Given the description of an element on the screen output the (x, y) to click on. 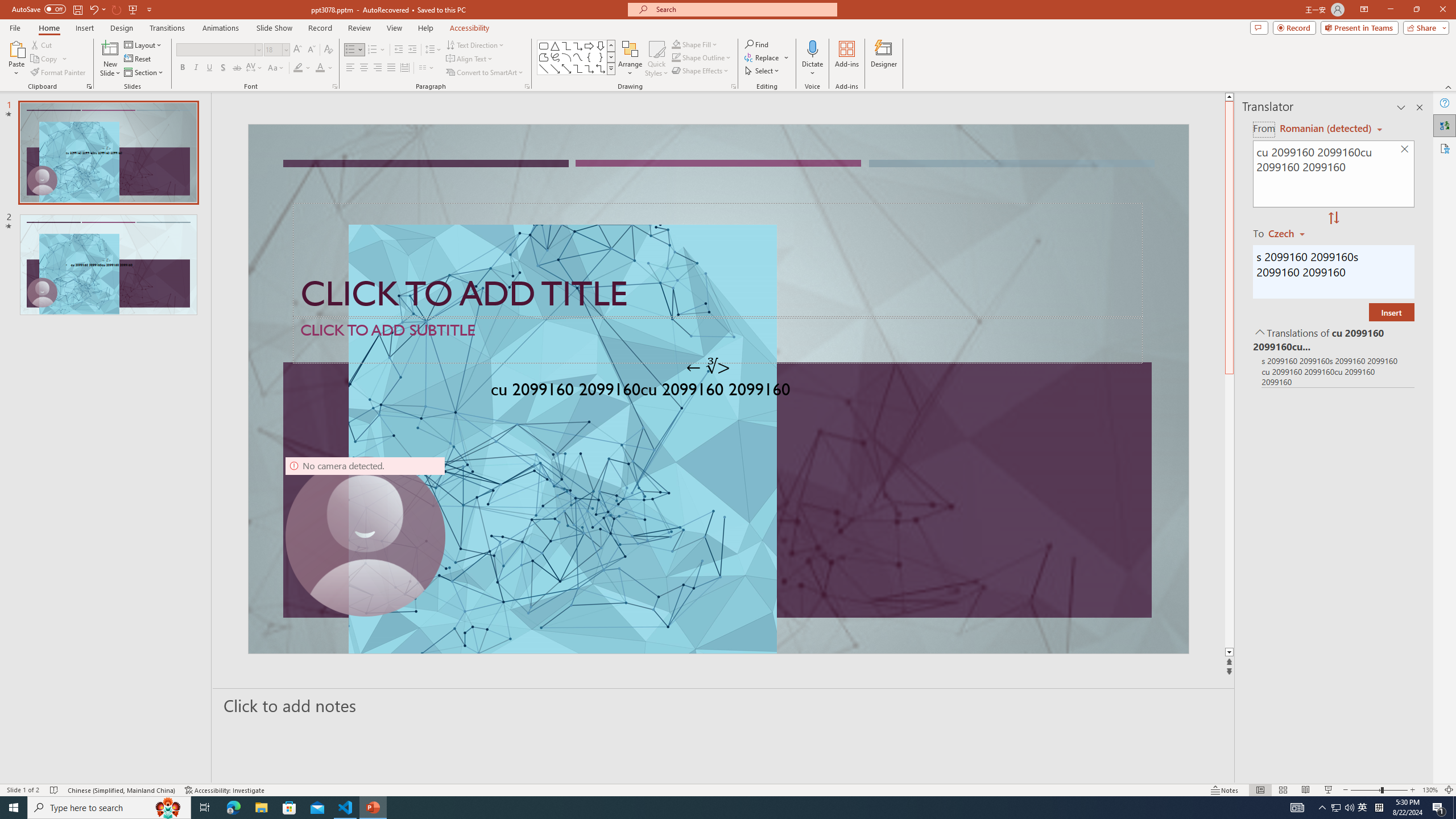
Shape Effects (700, 69)
Change Case (276, 67)
Font (219, 49)
Strikethrough (237, 67)
Decrease Font Size (310, 49)
Isosceles Triangle (554, 45)
Columns (426, 67)
Center (363, 67)
Connector: Elbow Arrow (589, 68)
Class: NetUIImage (610, 68)
